Given the description of an element on the screen output the (x, y) to click on. 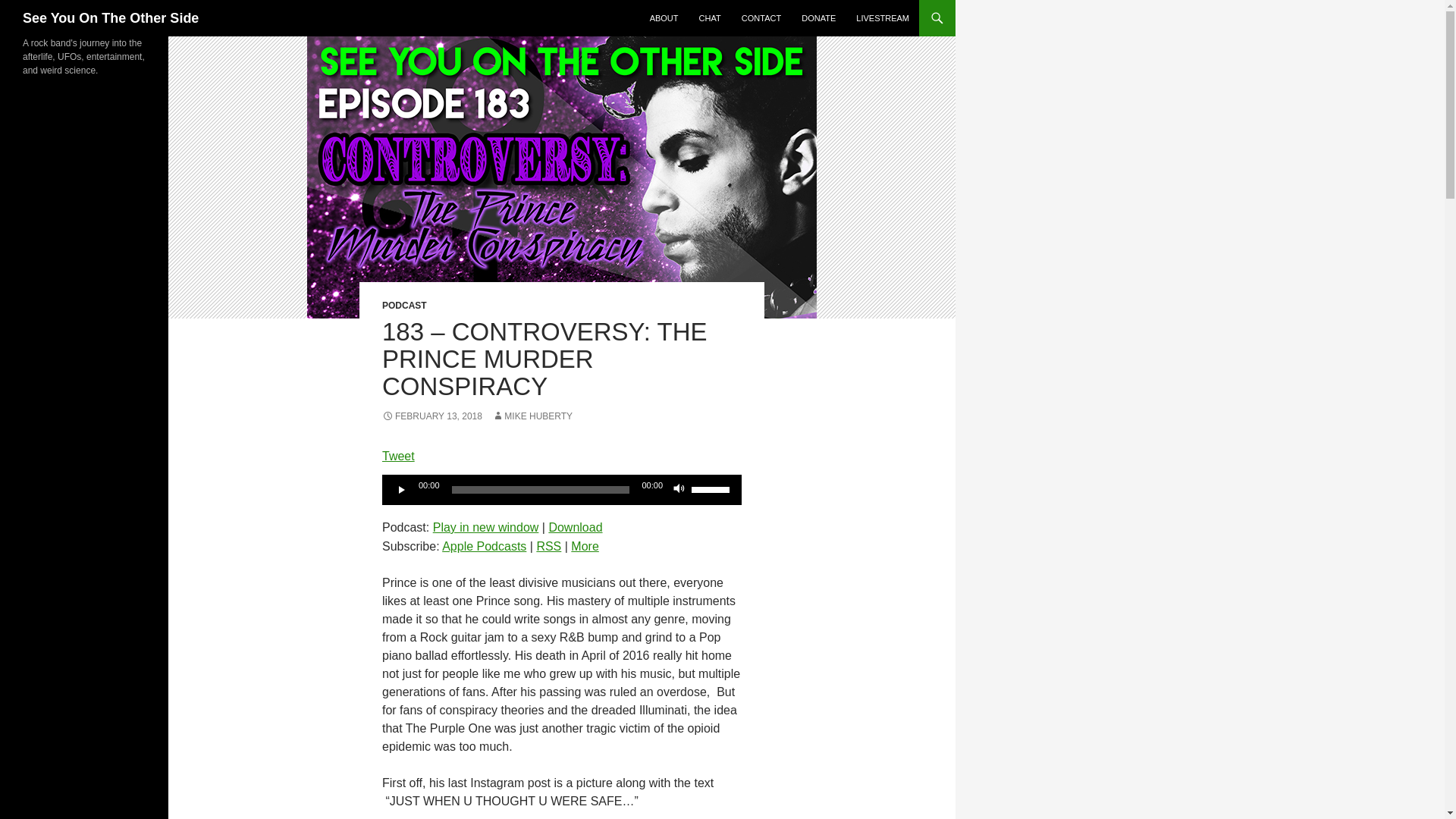
Play in new window (485, 526)
More (584, 545)
PODCAST (403, 305)
RSS (547, 545)
DONATE (818, 18)
Subscribe via RSS (547, 545)
Tweet (397, 455)
FEBRUARY 13, 2018 (431, 416)
MIKE HUBERTY (532, 416)
See You On The Other Side (110, 18)
Play in new window (485, 526)
CONTACT (761, 18)
Mute (679, 489)
ABOUT (663, 18)
Subscribe on Apple Podcasts (483, 545)
